Given the description of an element on the screen output the (x, y) to click on. 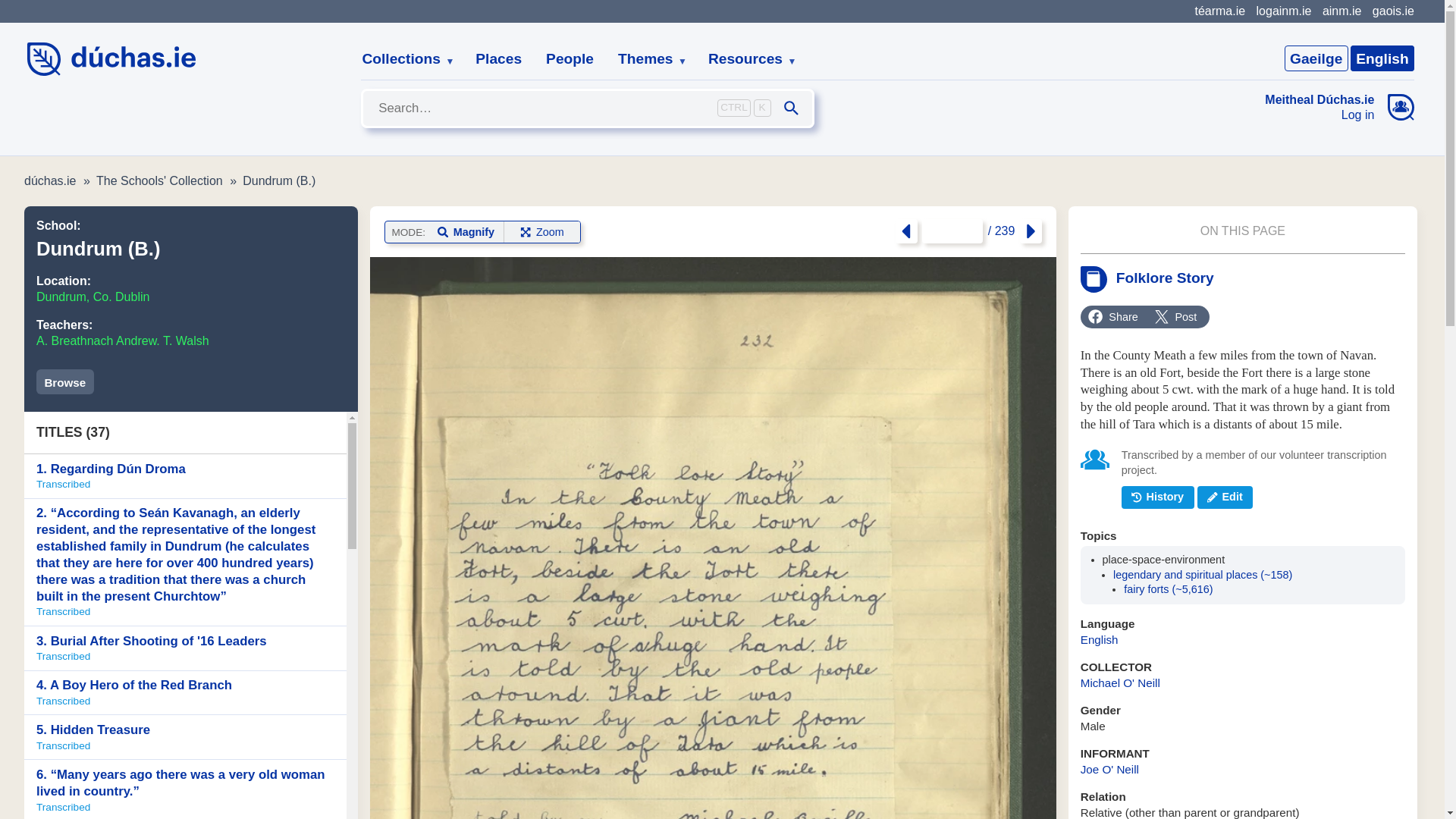
Log in (1319, 114)
The Schools' Collection (159, 180)
Collections (401, 59)
ainm.ie (1341, 11)
Gaeilge (1316, 58)
Places (498, 58)
Andrew. T. Walsh (162, 340)
Themes (646, 59)
Dundrum, Co. Dublin (92, 296)
Resources (745, 59)
A. Breathnach (76, 340)
English (1382, 58)
gaois.ie (1393, 11)
logainm.ie (1283, 11)
People (569, 58)
